Given the description of an element on the screen output the (x, y) to click on. 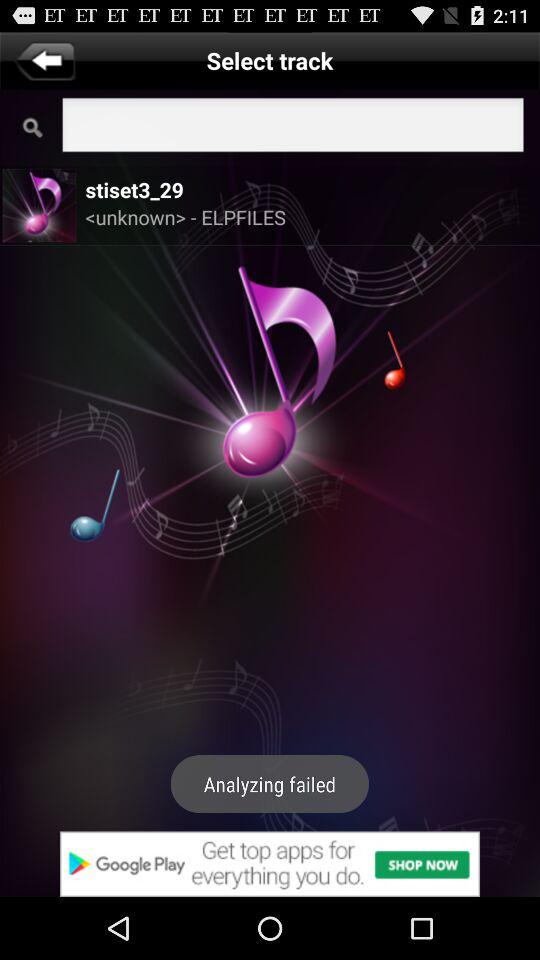
go back (44, 59)
